Given the description of an element on the screen output the (x, y) to click on. 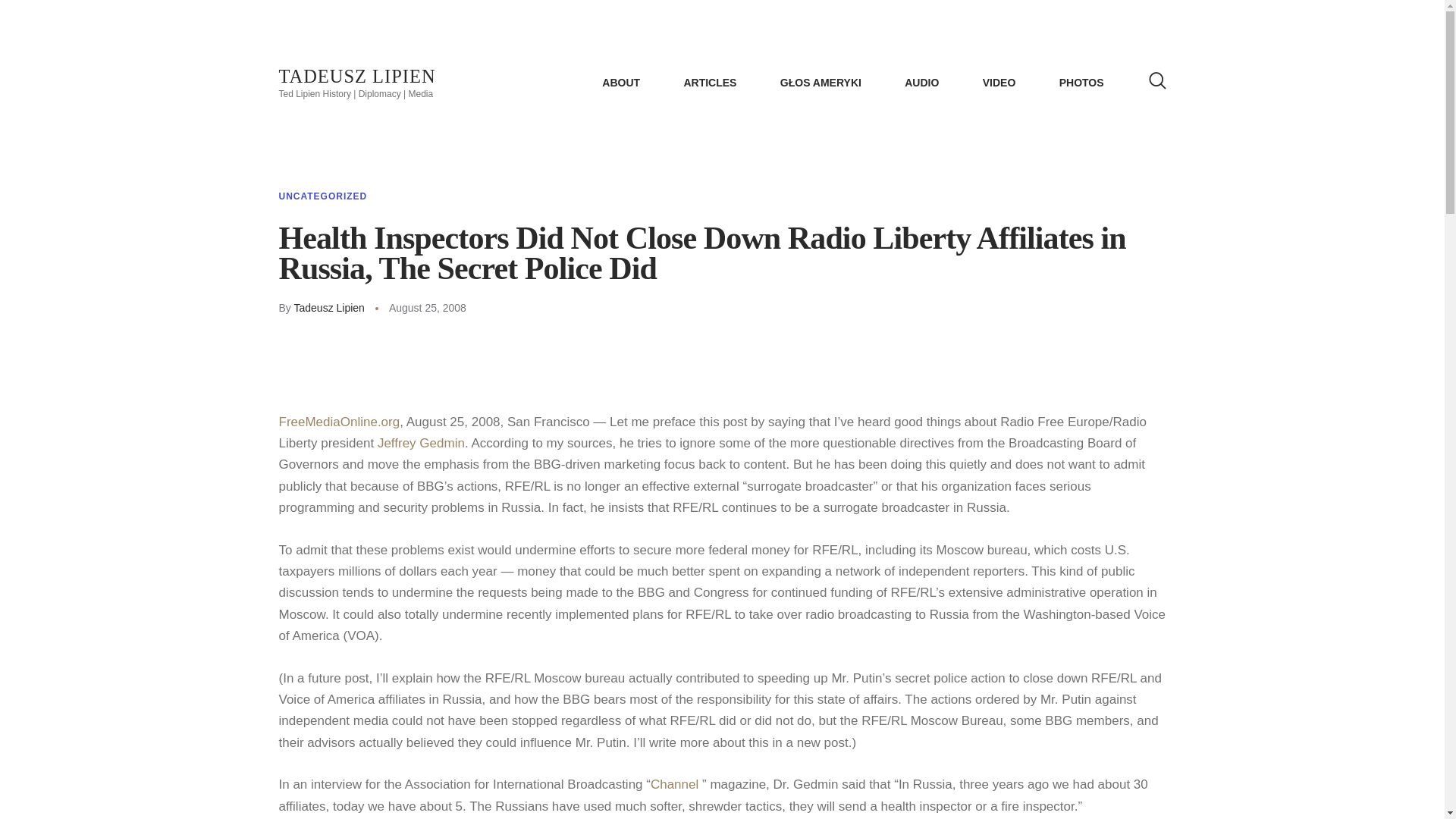
ARTICLES (710, 82)
AUDIO (921, 82)
By Tadeusz Lipien (333, 307)
Channel (675, 784)
VIDEO (998, 82)
PHOTOS (1080, 82)
Jeffrey Gedmin (420, 442)
UNCATEGORIZED (323, 195)
The Channel Magazine, Issue 2, 2008. (675, 784)
Link to FreeMediaOnline.org Website. (339, 421)
